Given the description of an element on the screen output the (x, y) to click on. 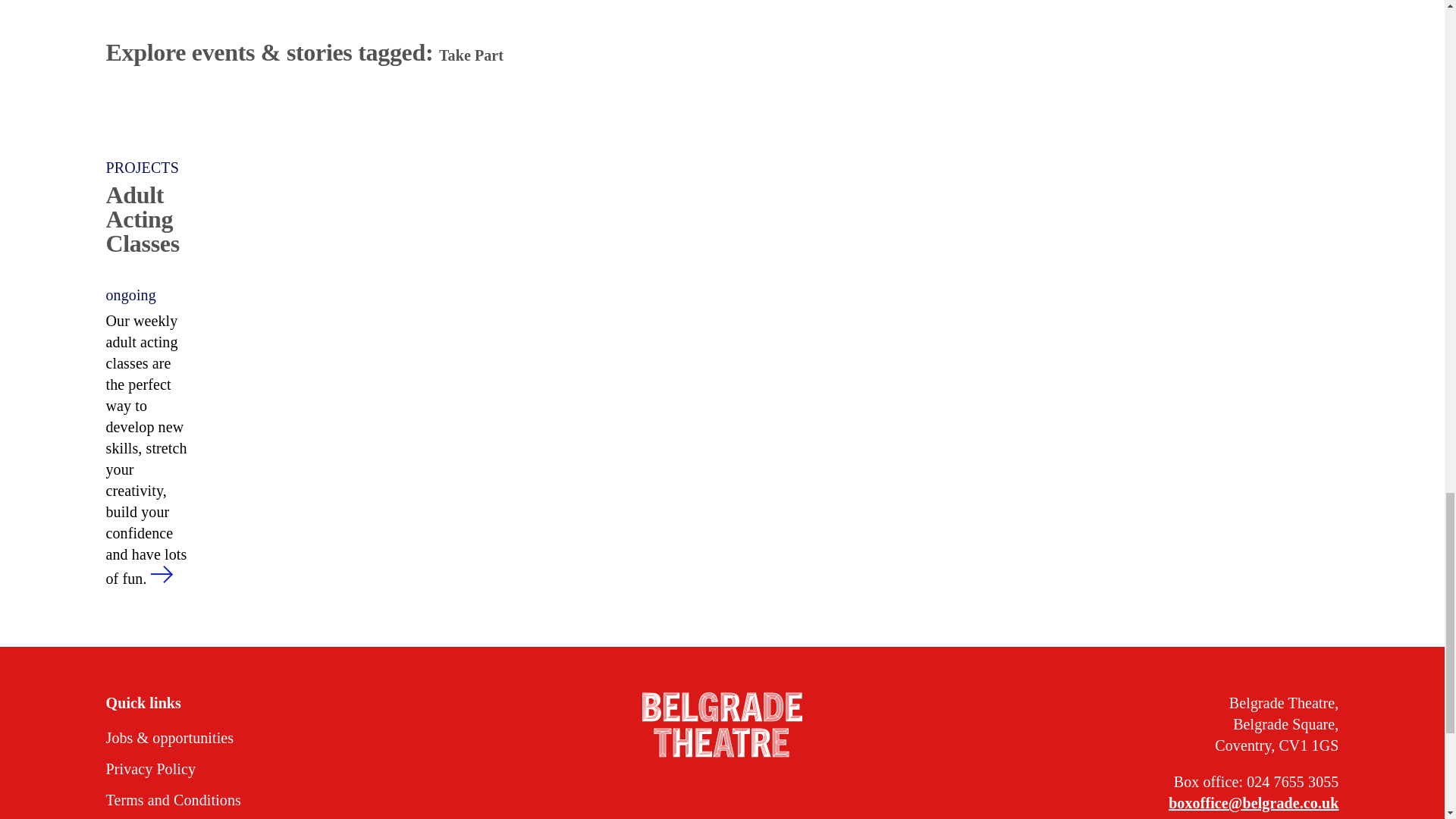
Select this link to read all our projects (149, 167)
Select this link to go back to the homepage (722, 727)
